Given the description of an element on the screen output the (x, y) to click on. 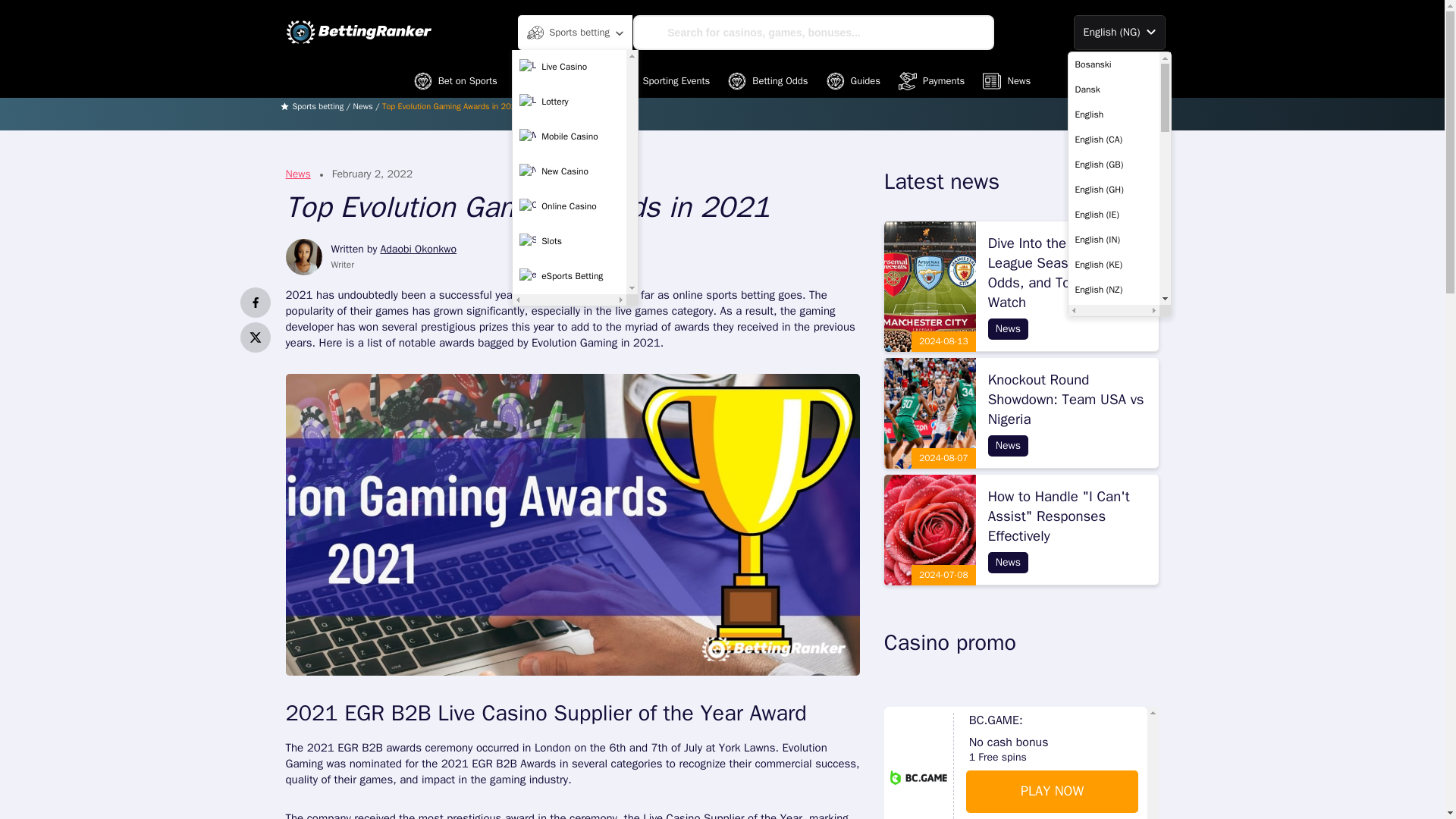
English (1113, 113)
New Casino (569, 172)
Lottery (569, 102)
Slots (569, 241)
eSports Betting (569, 276)
Live Casino (569, 67)
Melayu (1113, 489)
Bosanski (1113, 63)
Mobile Casino (569, 136)
Shqip (1113, 590)
